Given the description of an element on the screen output the (x, y) to click on. 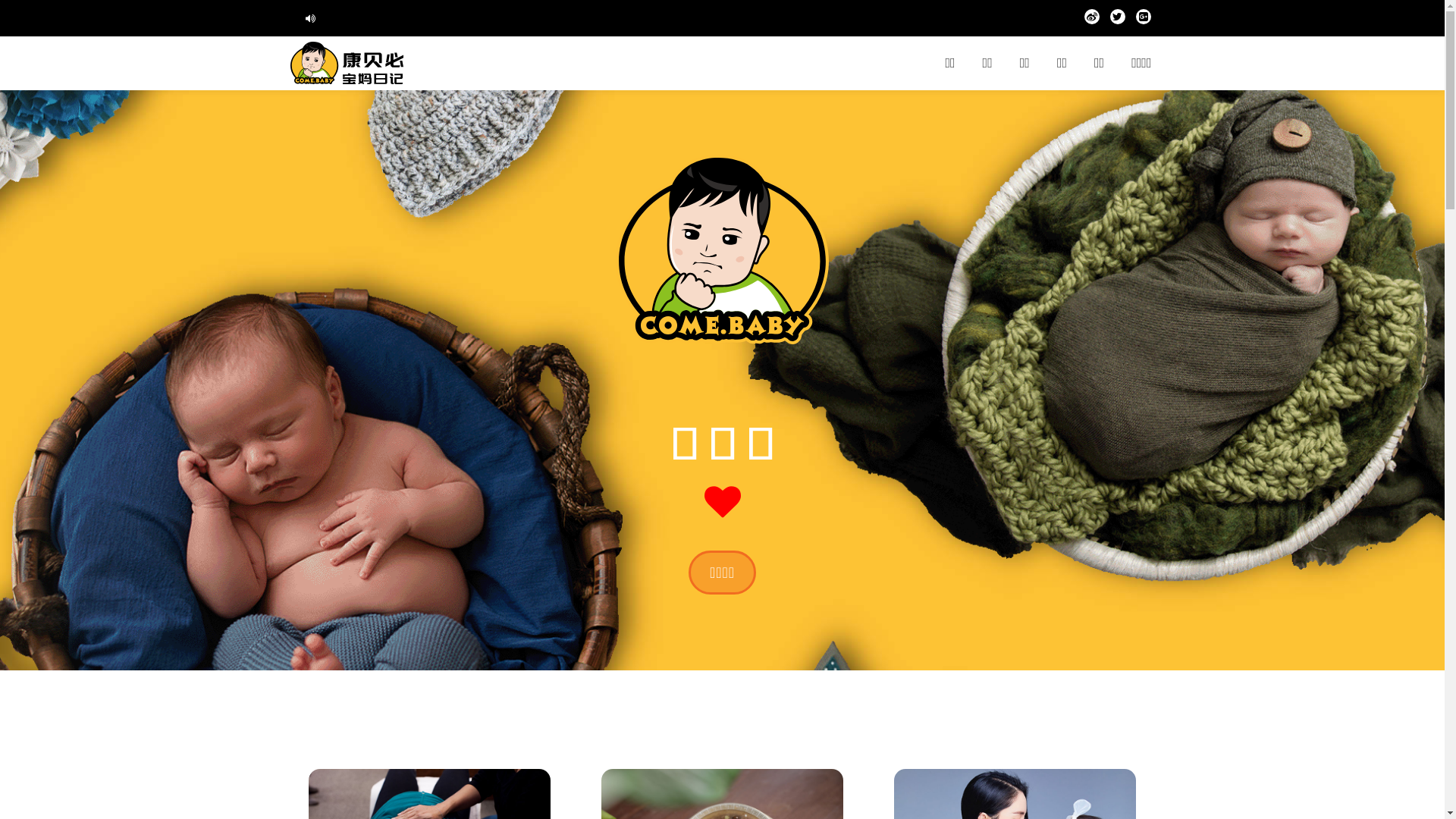
fa-weibo Element type: text (1091, 19)
fa-twitter Element type: text (1117, 19)
fa-google-plus-square Element type: text (1143, 19)
